Given the description of an element on the screen output the (x, y) to click on. 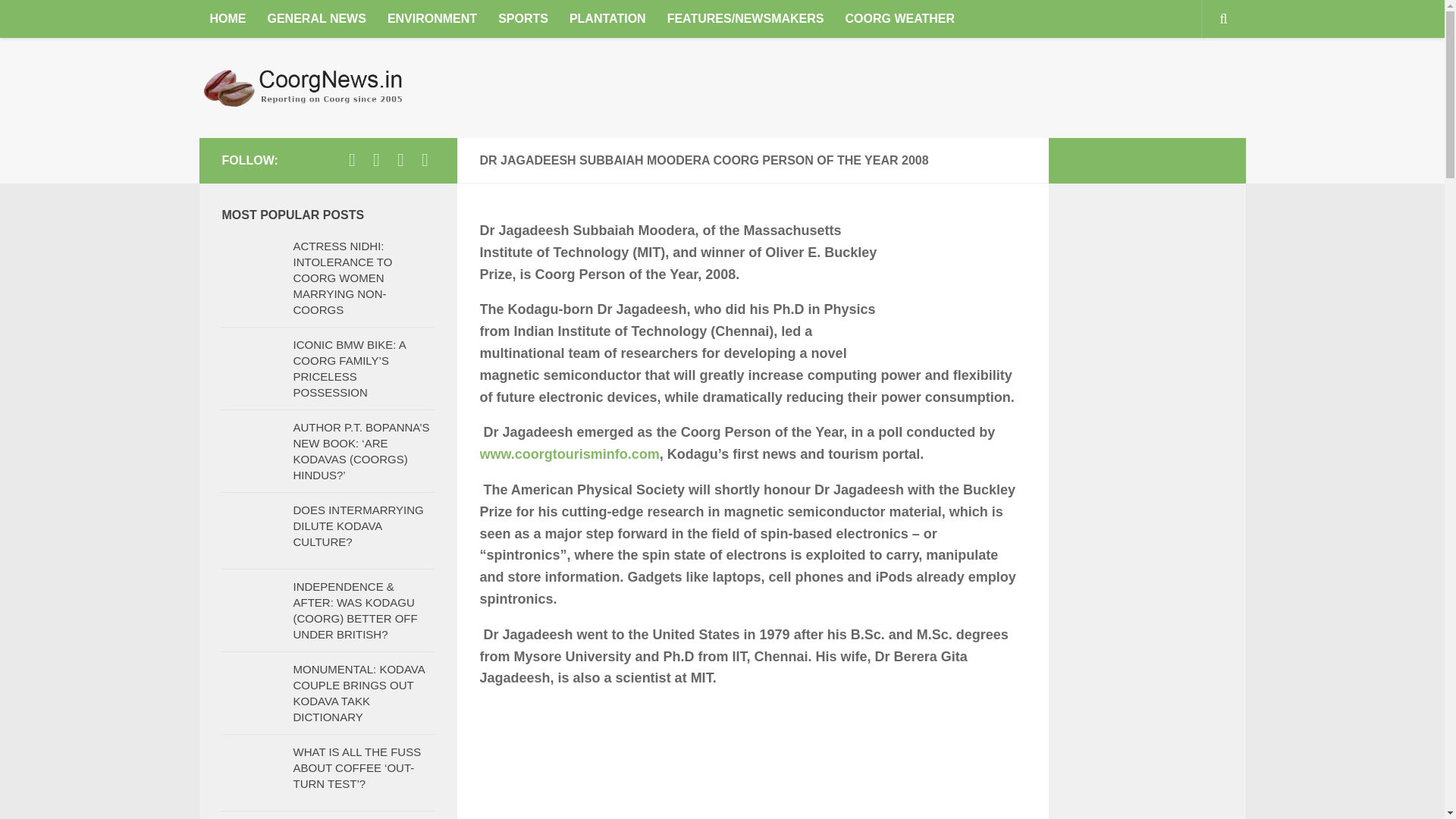
HOME (227, 18)
DOES INTERMARRYING DILUTE KODAVA CULTURE? (357, 525)
Follow us on Rss (423, 159)
Follow us on Google-plus (400, 159)
Follow us on Twitter (375, 159)
COORG WEATHER (899, 18)
SPORTS (523, 18)
DOES INTERMARRYING DILUTE KODAVA CULTURE? (357, 525)
